Given the description of an element on the screen output the (x, y) to click on. 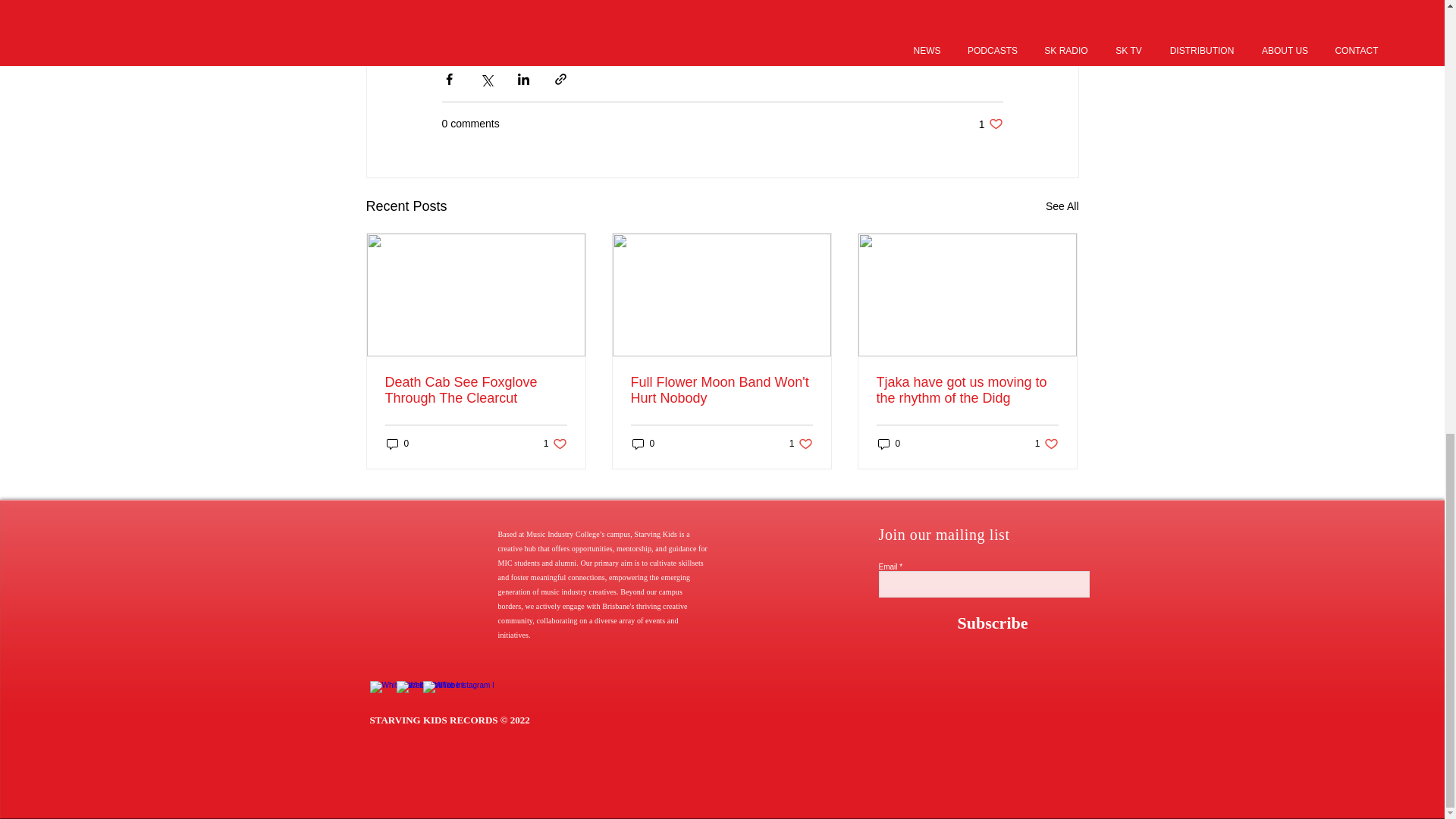
0 (889, 443)
Full Flower Moon Band Won't Hurt Nobody (721, 390)
Death Cab See Foxglove Through The Clearcut (476, 390)
0 (397, 443)
0 (643, 443)
See All (1061, 206)
Tjaka have got us moving to the rhythm of the Didg (800, 443)
